Given the description of an element on the screen output the (x, y) to click on. 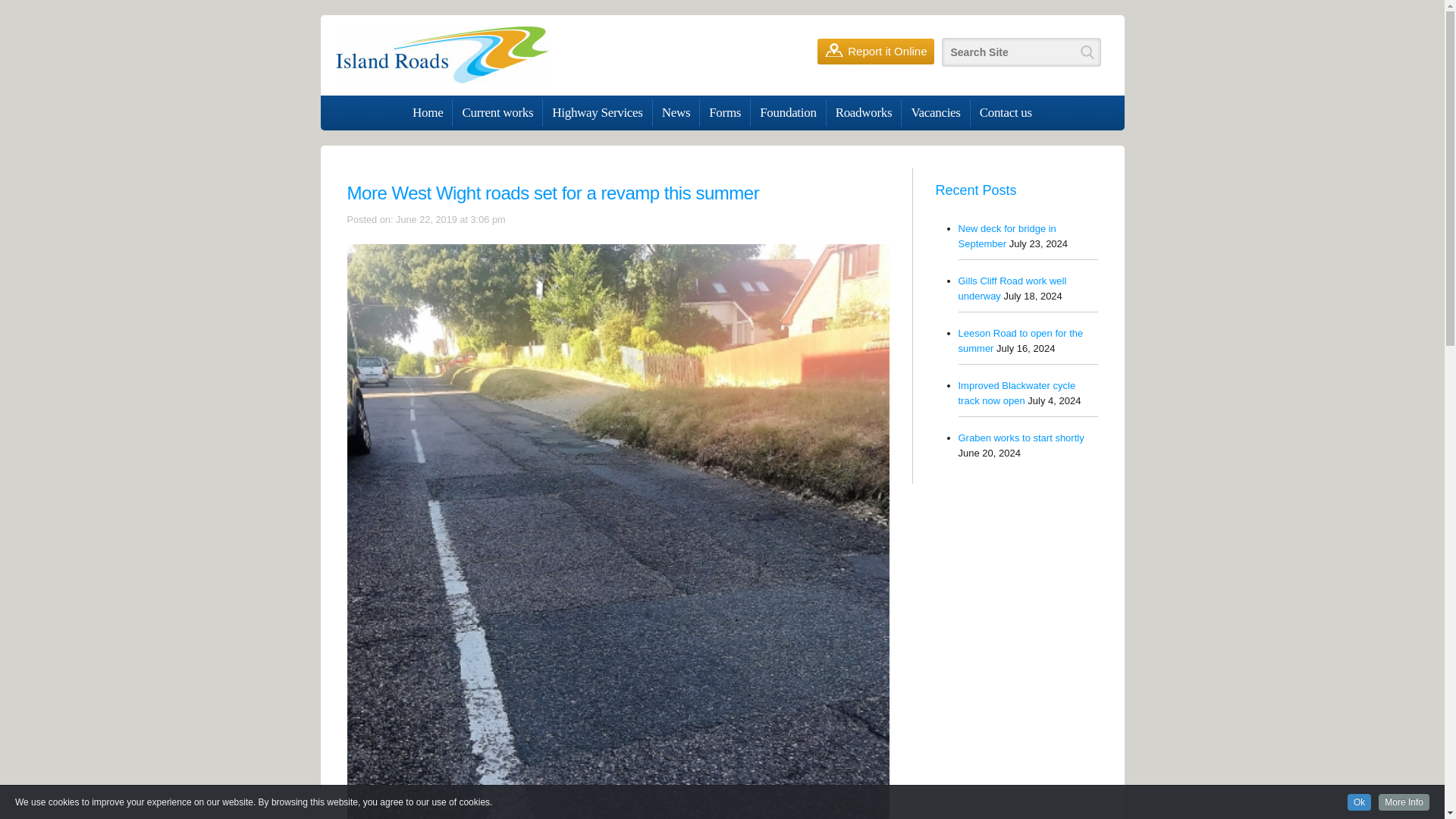
Current works (496, 112)
Home (427, 112)
Forms (724, 112)
Foundation (788, 112)
Highway Services (596, 112)
Report it Online (875, 51)
Roadworks (864, 112)
News (676, 112)
